Given the description of an element on the screen output the (x, y) to click on. 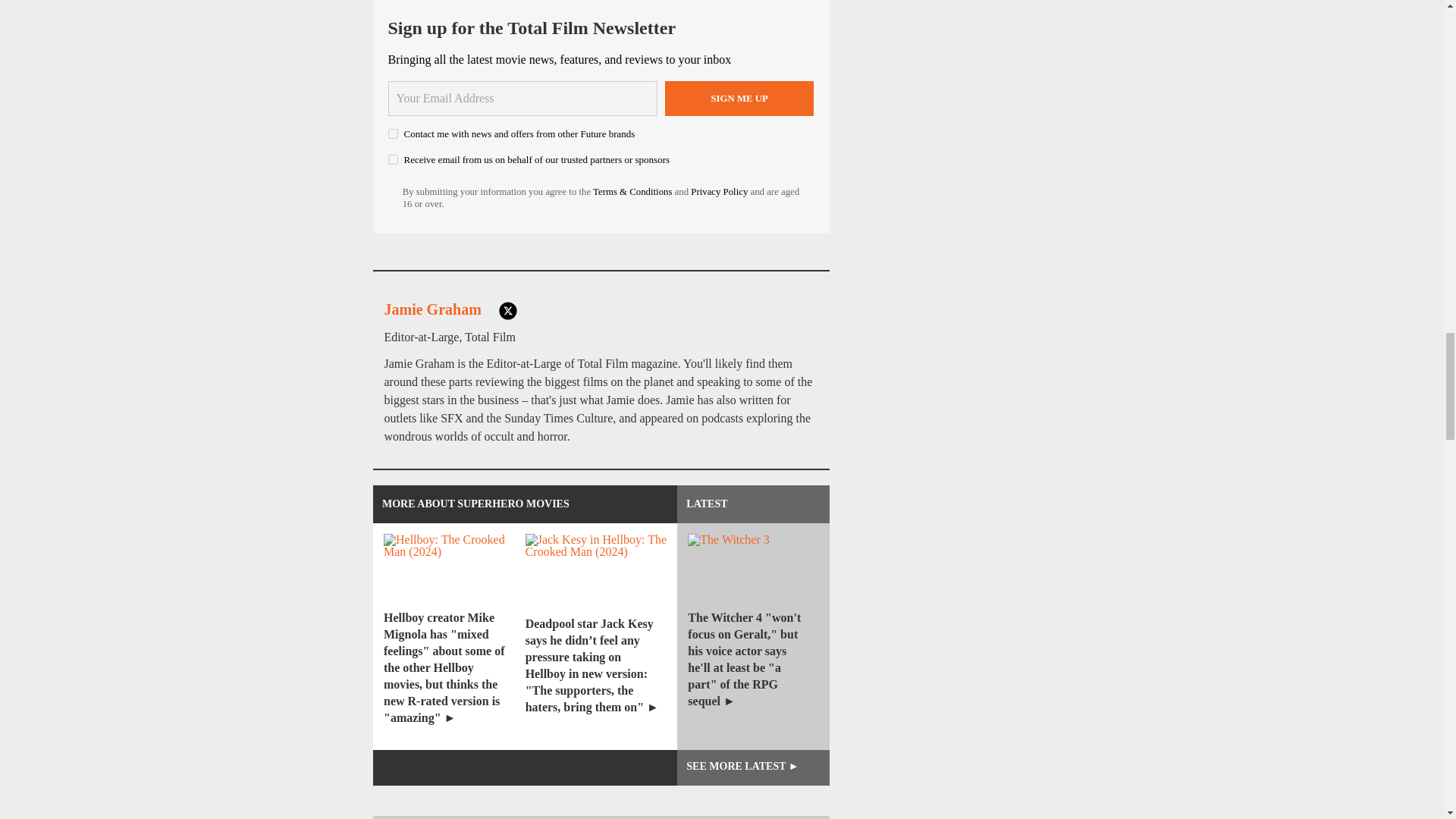
on (392, 133)
on (392, 159)
Sign me up (739, 98)
